Given the description of an element on the screen output the (x, y) to click on. 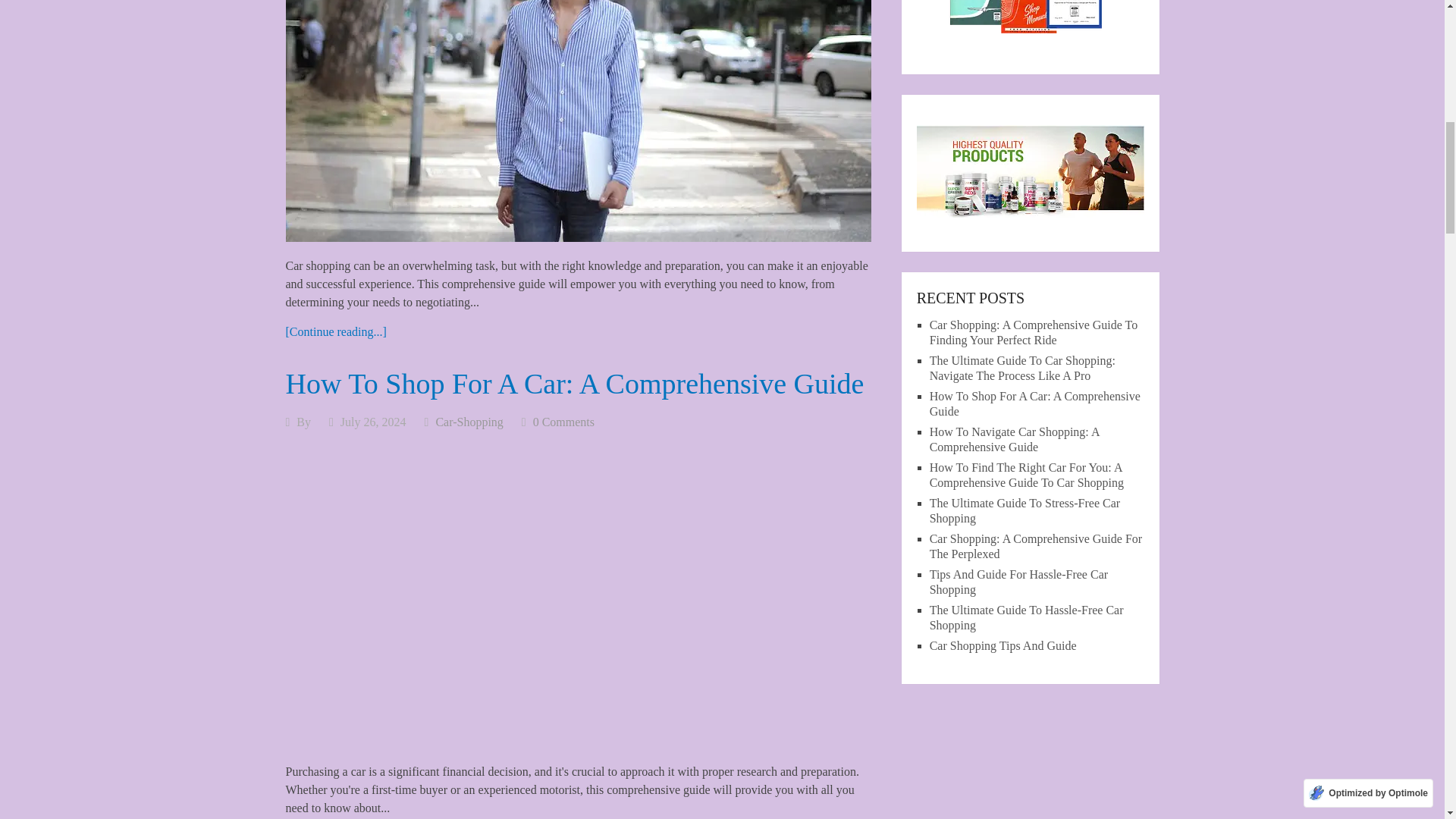
Car-Shopping (468, 421)
How To Shop For A Car: A Comprehensive Guide (574, 383)
How To Shop For A Car: A Comprehensive Guide (574, 383)
0 Comments (563, 421)
